Given the description of an element on the screen output the (x, y) to click on. 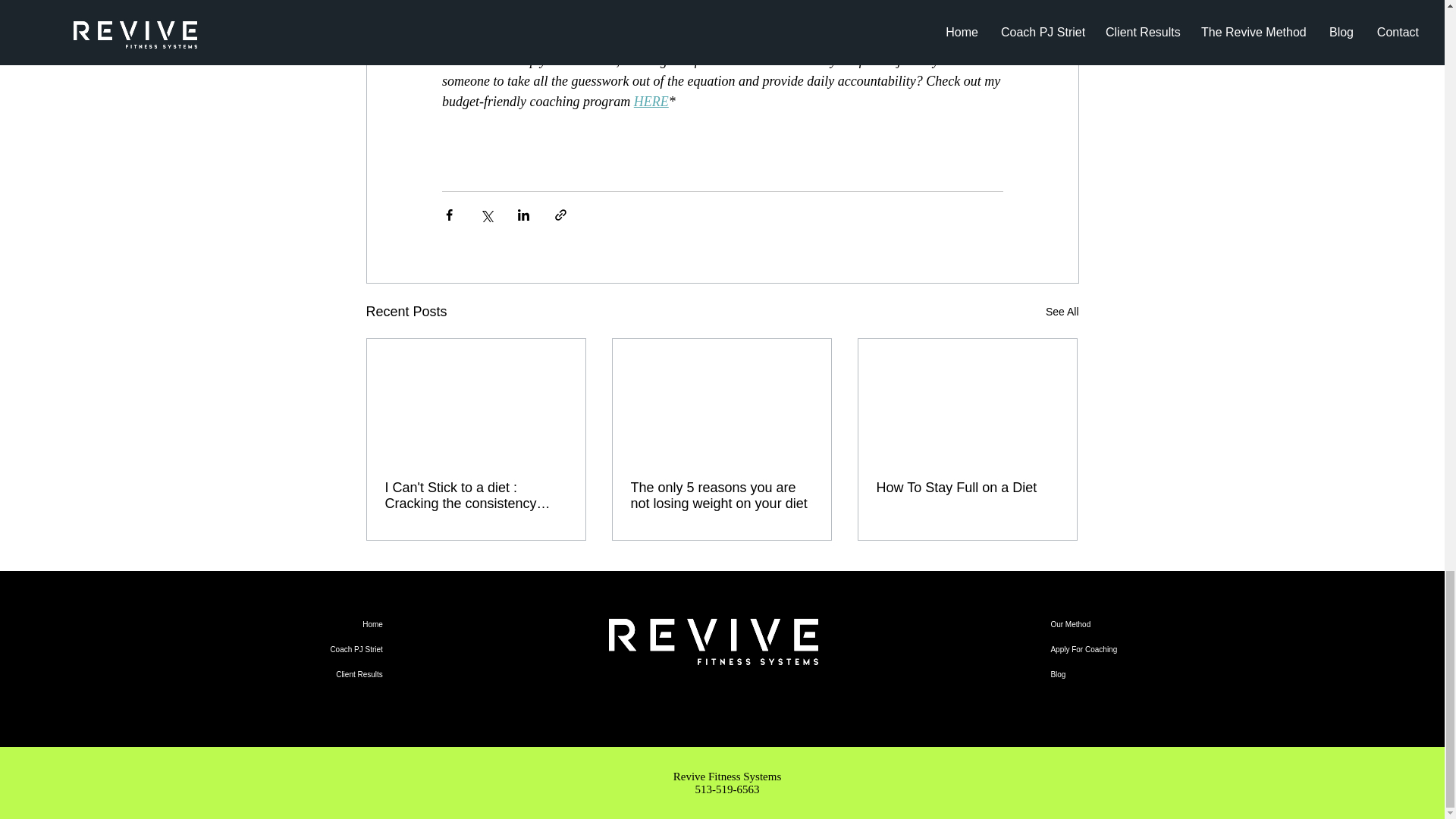
How To Stay Full on a Diet (967, 487)
Home (276, 624)
See All (1061, 311)
The only 5 reasons you are not losing weight on your diet (721, 495)
Client Results (276, 674)
Blog (1156, 674)
Our Method (1156, 624)
Apply For Coaching (1156, 649)
HERE (650, 101)
I Can't Stick to a diet : Cracking the consistency conundrum (476, 495)
